Given the description of an element on the screen output the (x, y) to click on. 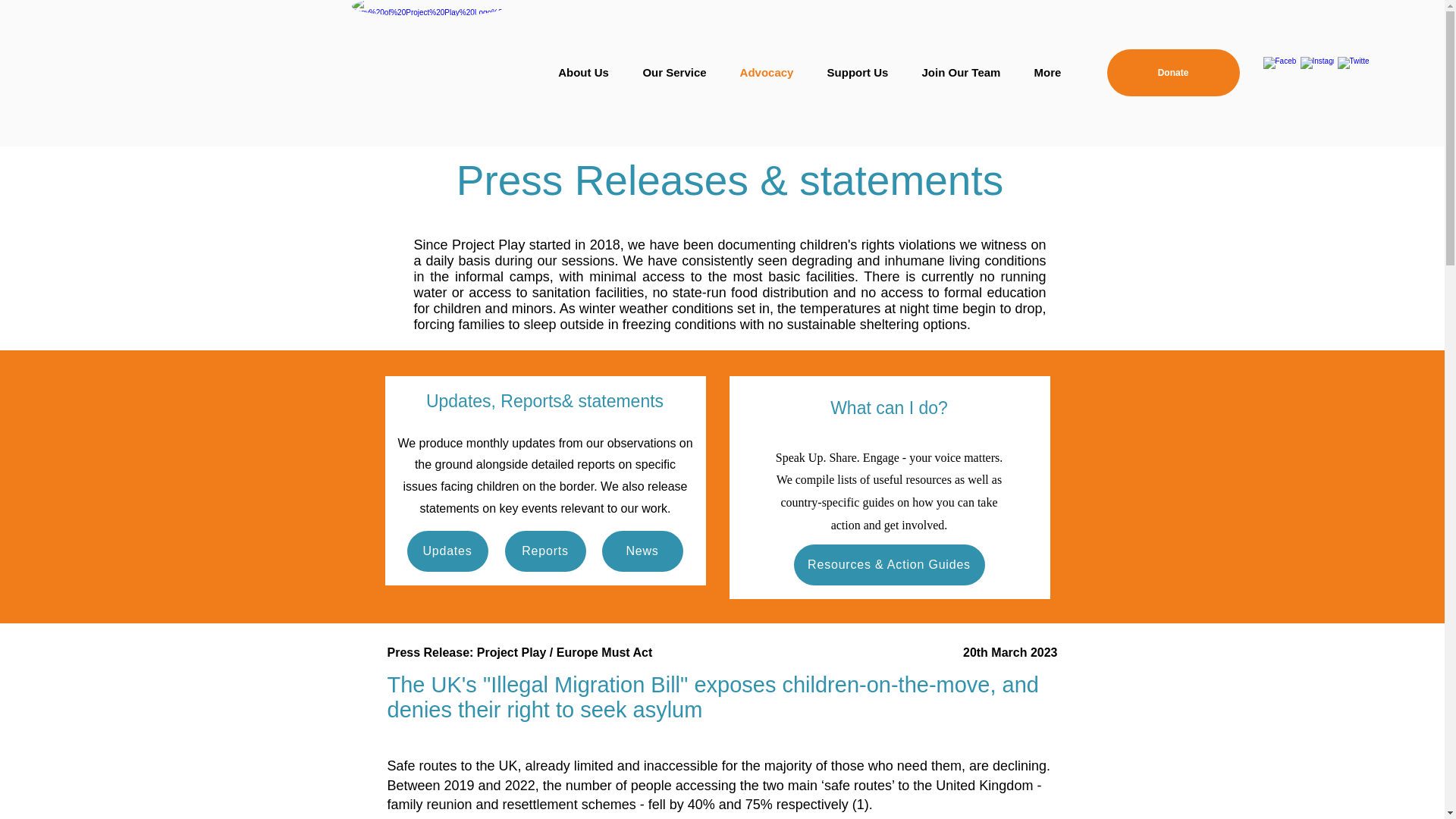
Updates (446, 550)
News (642, 550)
Donate (1173, 72)
Support Us (856, 72)
Advocacy (766, 72)
Reports (545, 550)
Our Service (674, 72)
Join Our Team (961, 72)
About Us (583, 72)
